Given the description of an element on the screen output the (x, y) to click on. 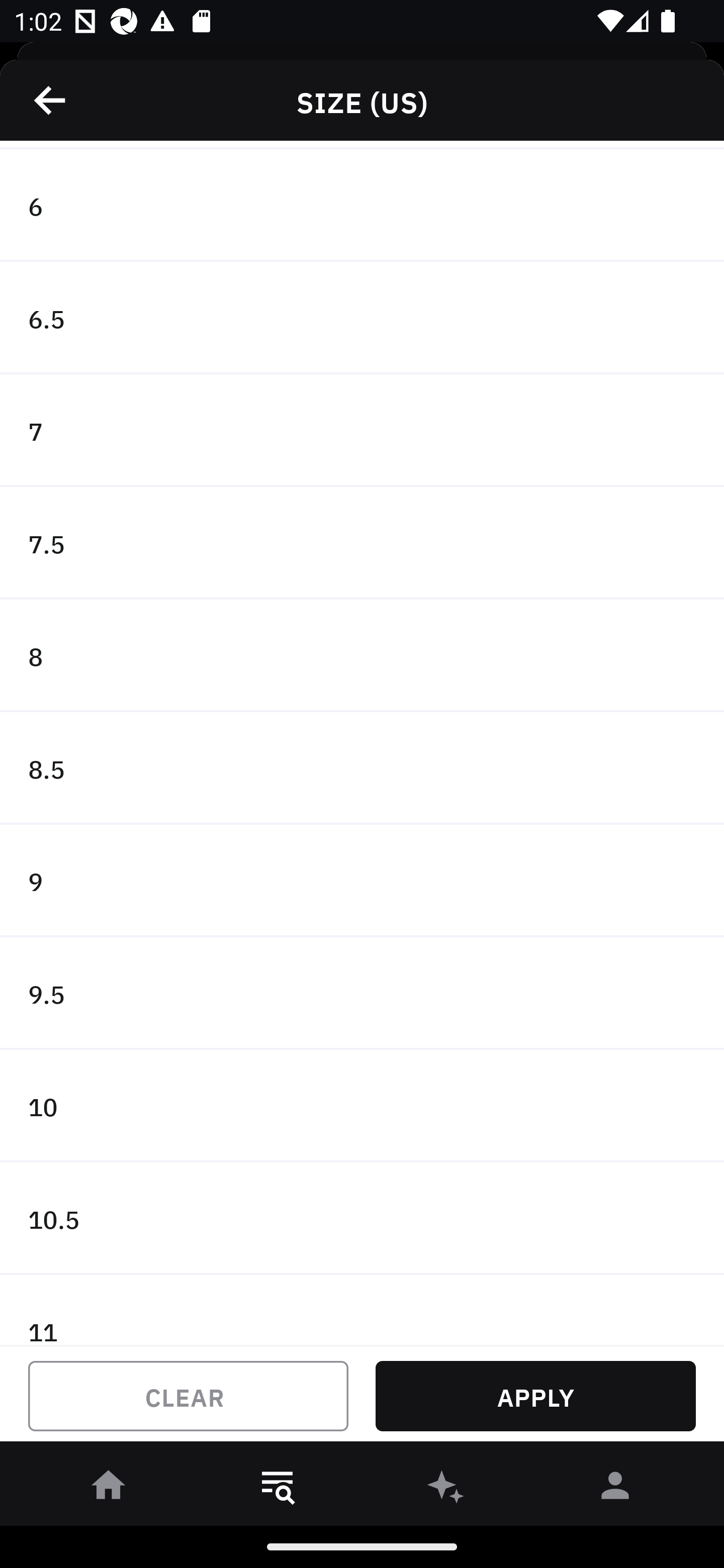
 (50, 100)
6 (362, 204)
6.5 (362, 317)
7 (362, 430)
7.5 (362, 542)
8 (362, 654)
8.5 (362, 767)
9 (362, 880)
9.5 (362, 993)
10 (362, 1105)
10.5 (362, 1217)
11 (362, 1309)
CLEAR  (188, 1396)
APPLY (535, 1396)
󰋜 (108, 1488)
󱎸 (277, 1488)
󰫢 (446, 1488)
󰀄 (615, 1488)
